Given the description of an element on the screen output the (x, y) to click on. 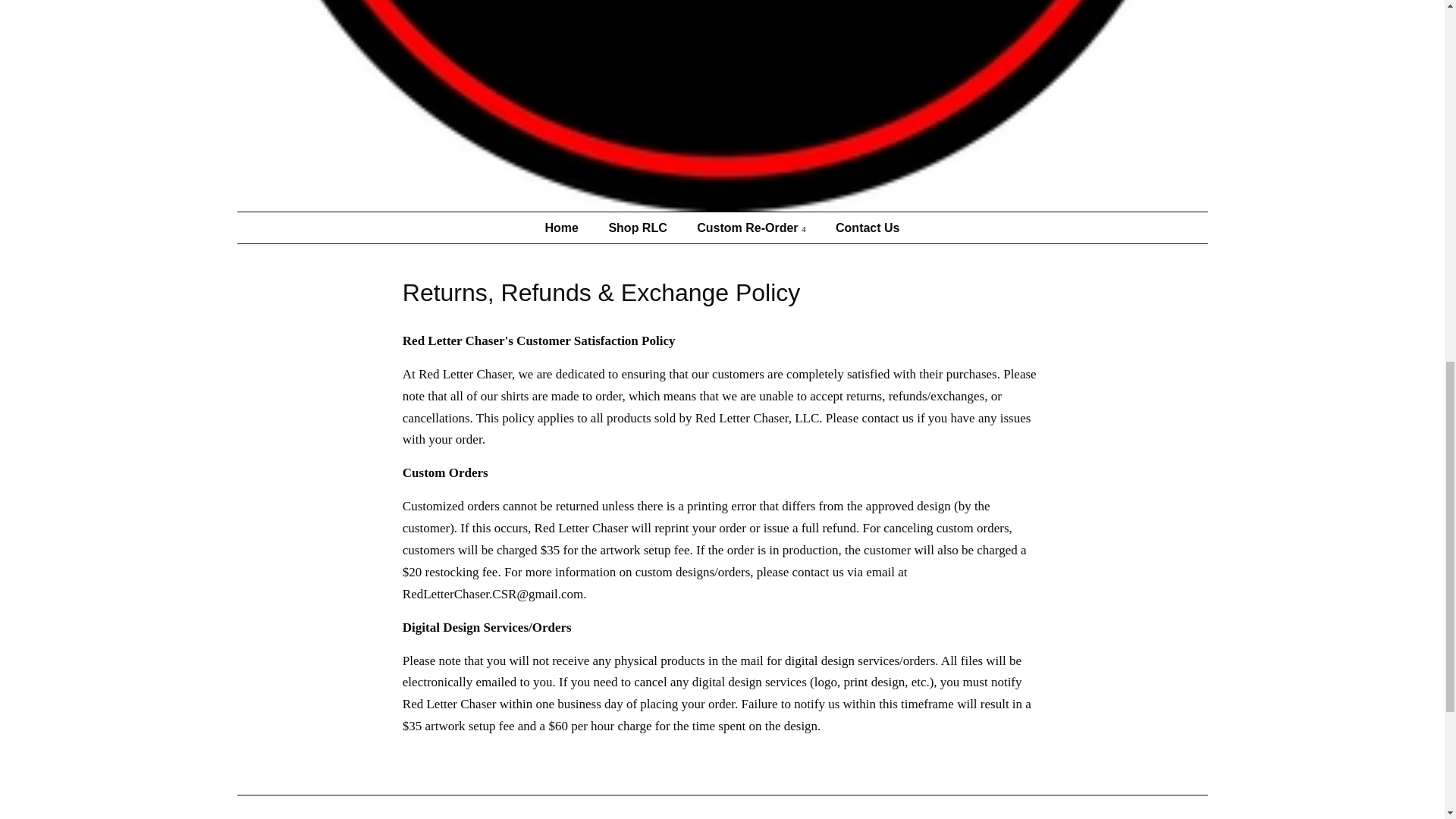
Shop RLC (638, 227)
Contact Us (861, 227)
Custom Re-Order (753, 227)
Home (568, 227)
